Given the description of an element on the screen output the (x, y) to click on. 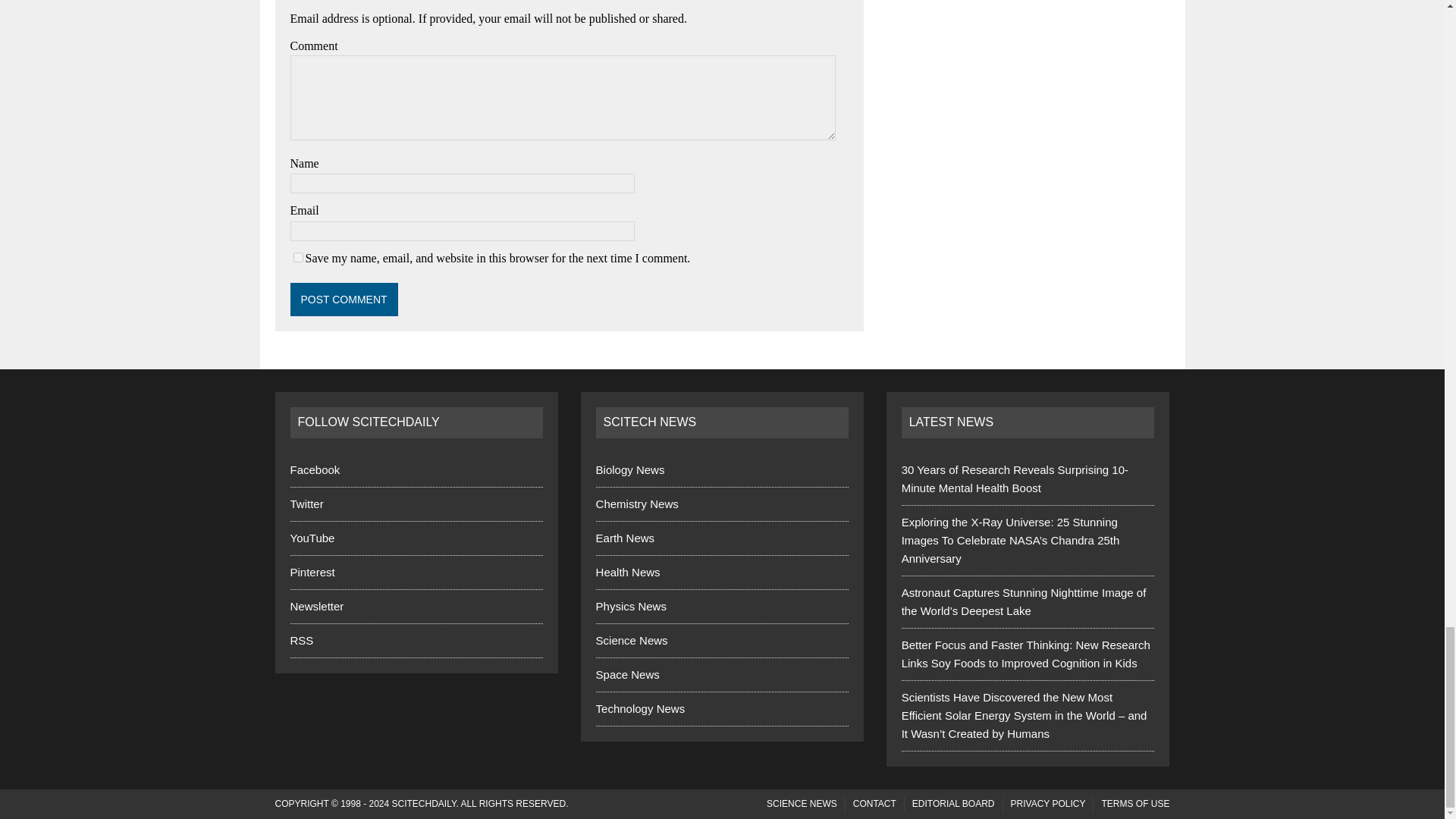
Post Comment (343, 299)
yes (297, 257)
